Given the description of an element on the screen output the (x, y) to click on. 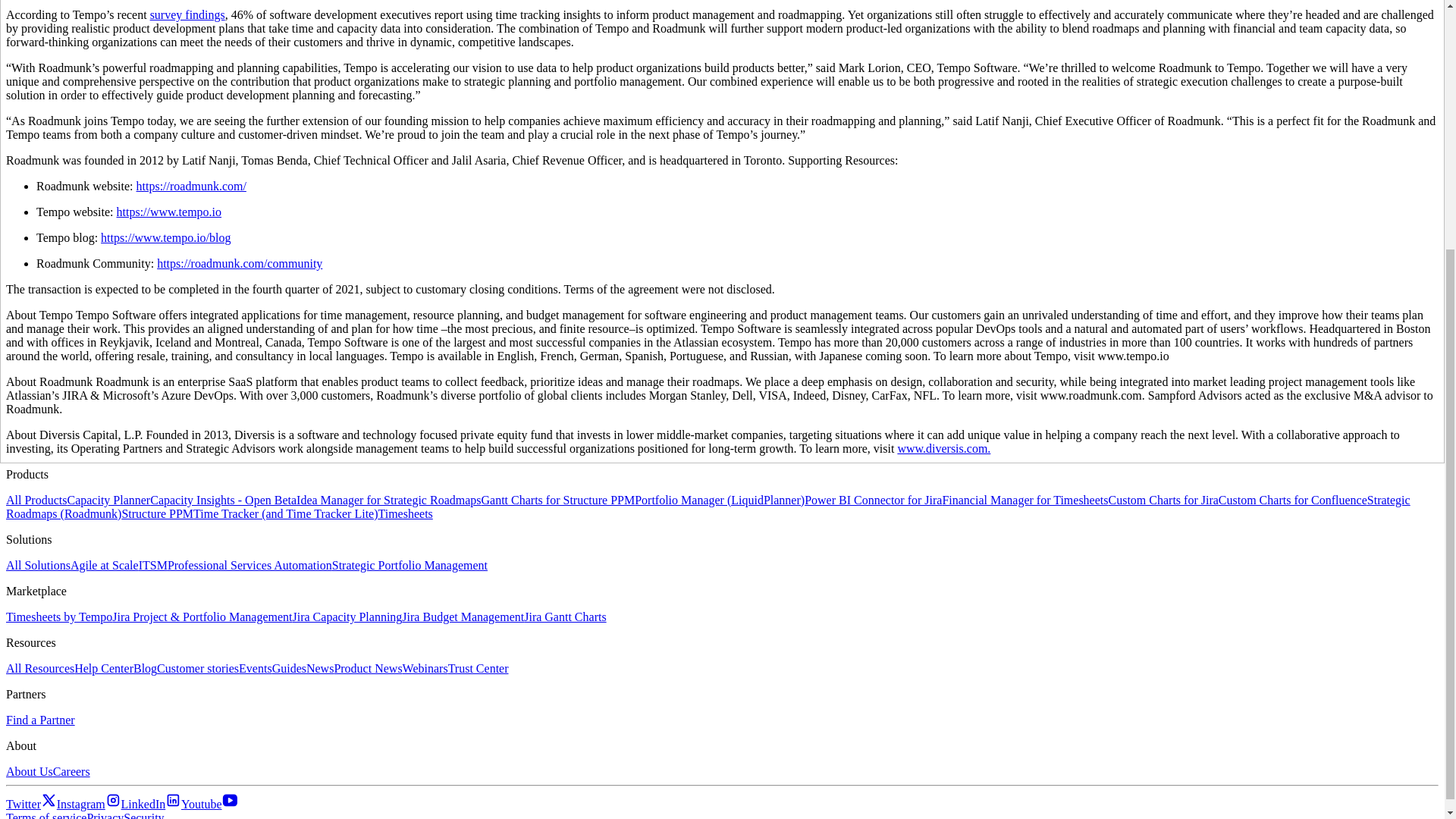
All Solutions (37, 564)
Capacity Planner (107, 499)
Power BI Connector for Jira (873, 499)
All Products (35, 499)
survey findings (187, 14)
Structure PPM (156, 513)
Capacity Insights - Open Beta (223, 499)
Idea Manager for Strategic Roadmaps (388, 499)
Financial Manager for Timesheets (1025, 499)
Custom Charts for Confluence (1292, 499)
Agile at Scale (103, 564)
Custom Charts for Jira (1163, 499)
Timesheets (404, 513)
www.diversis.com. (943, 448)
Gantt Charts for Structure PPM (557, 499)
